Given the description of an element on the screen output the (x, y) to click on. 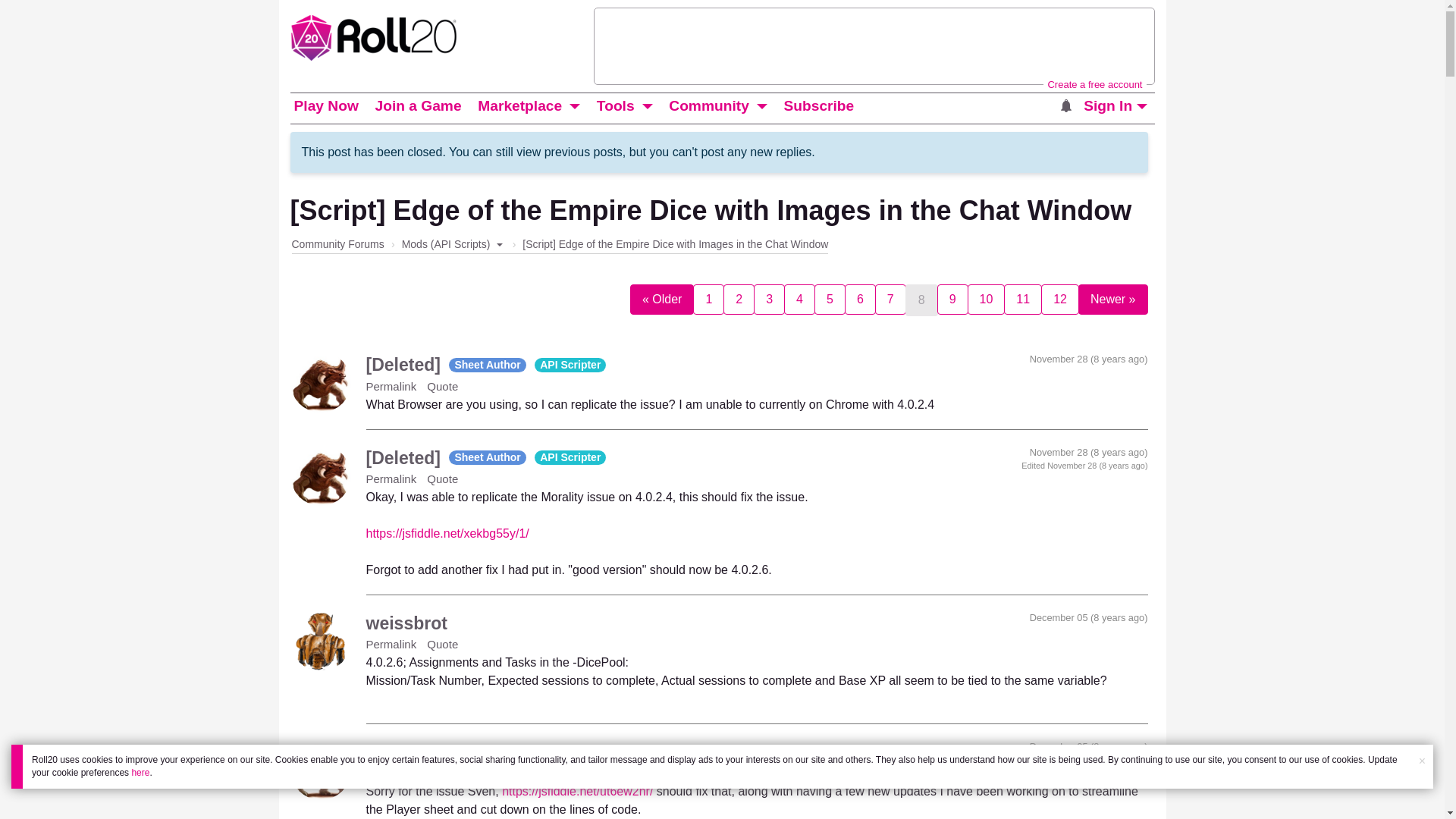
here (140, 772)
Tools (615, 106)
Join a Game (417, 106)
Marketplace (520, 106)
Create a free account (1093, 84)
Play Now (325, 106)
